Given the description of an element on the screen output the (x, y) to click on. 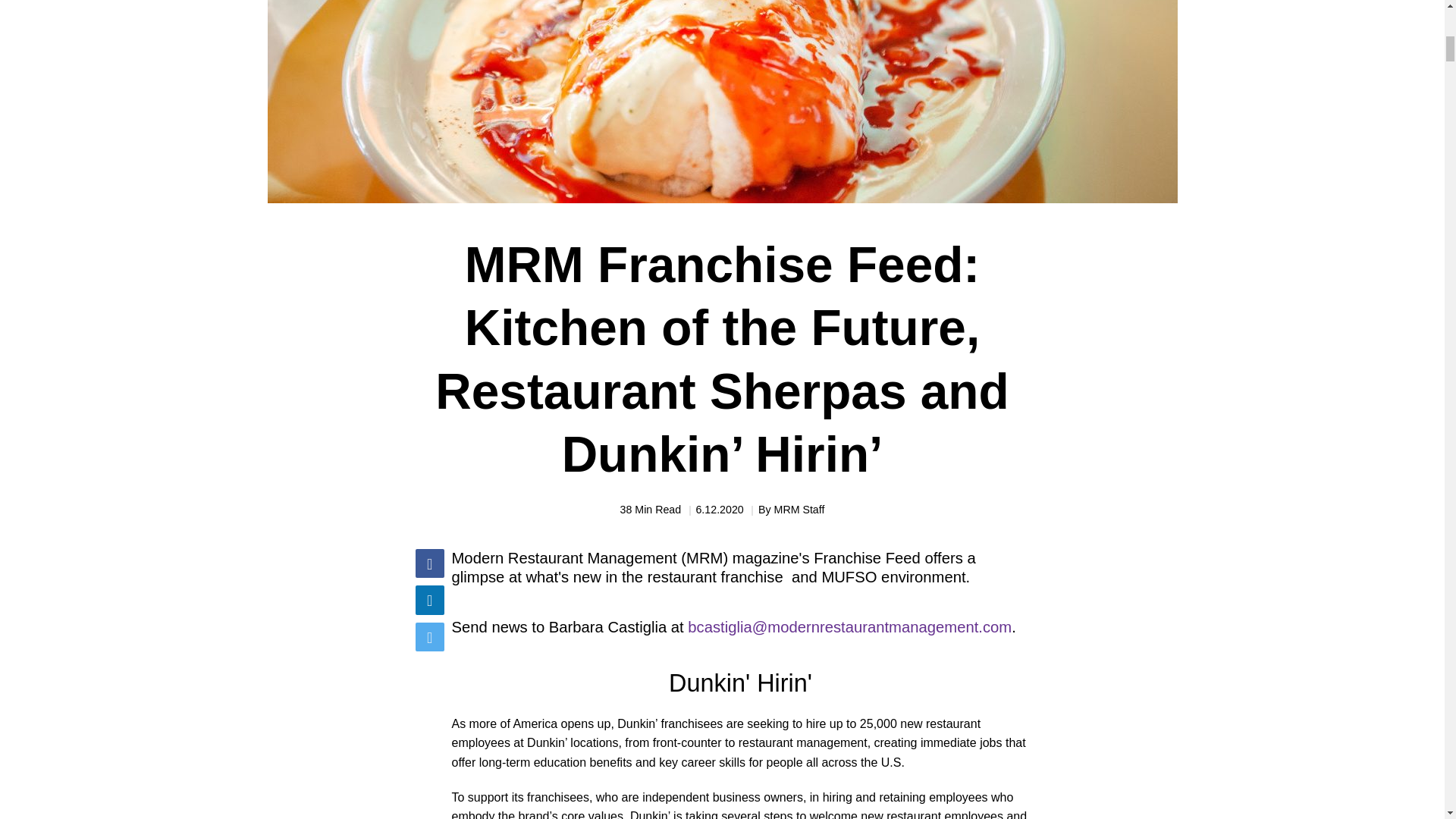
Share via Facebook (429, 563)
Share via LinkedIn (429, 599)
Share via Twitter (429, 636)
